Given the description of an element on the screen output the (x, y) to click on. 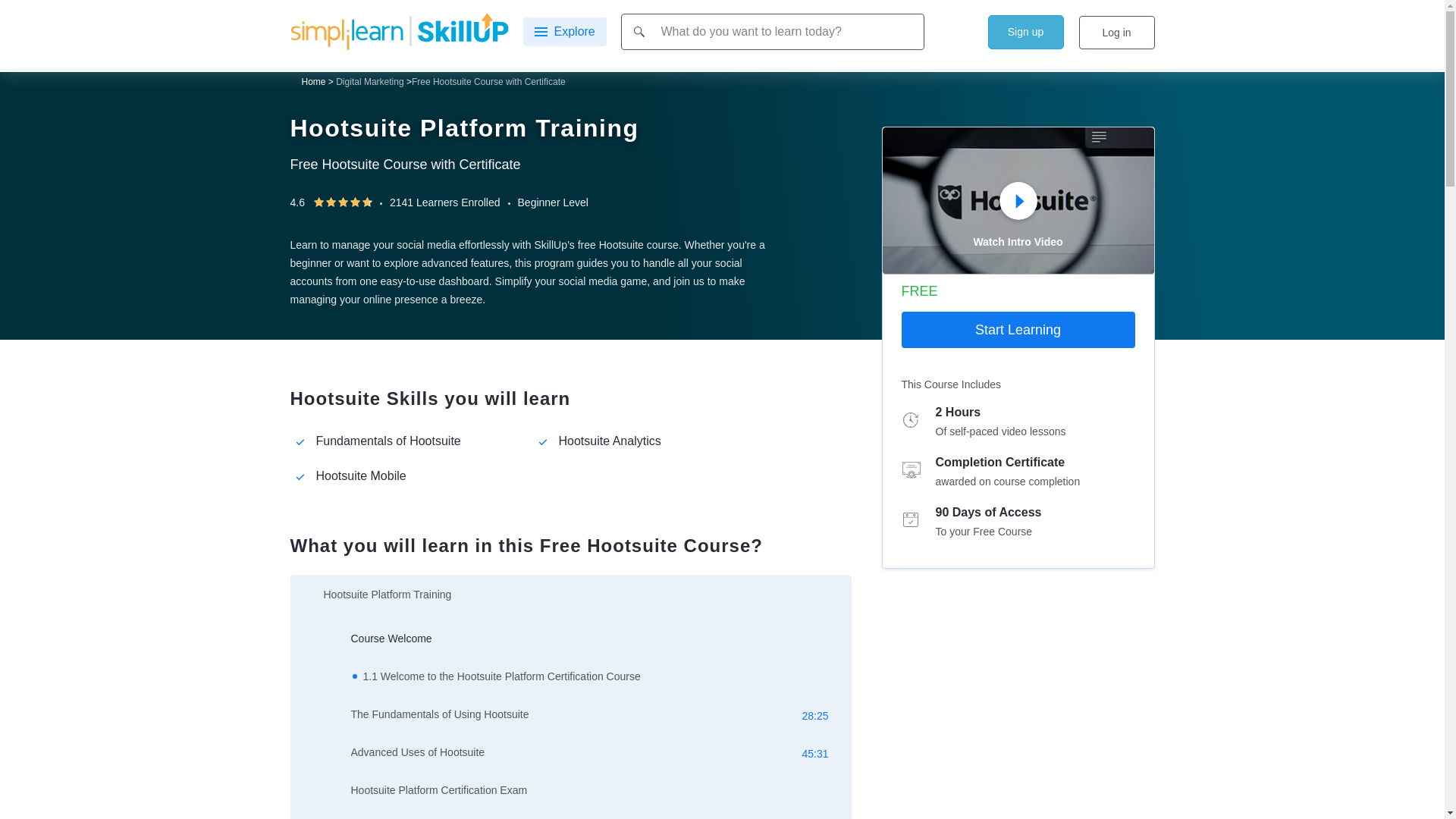
Home (313, 81)
Sign up (1024, 32)
Simplilearn - Skillup (398, 30)
Explore (564, 31)
search (639, 29)
Log in (1116, 32)
Digital Marketing (369, 81)
Free Hootsuite Course with Certificate (489, 81)
Start Learning (1017, 330)
Log in (1116, 32)
Sign-up (1024, 32)
